Given the description of an element on the screen output the (x, y) to click on. 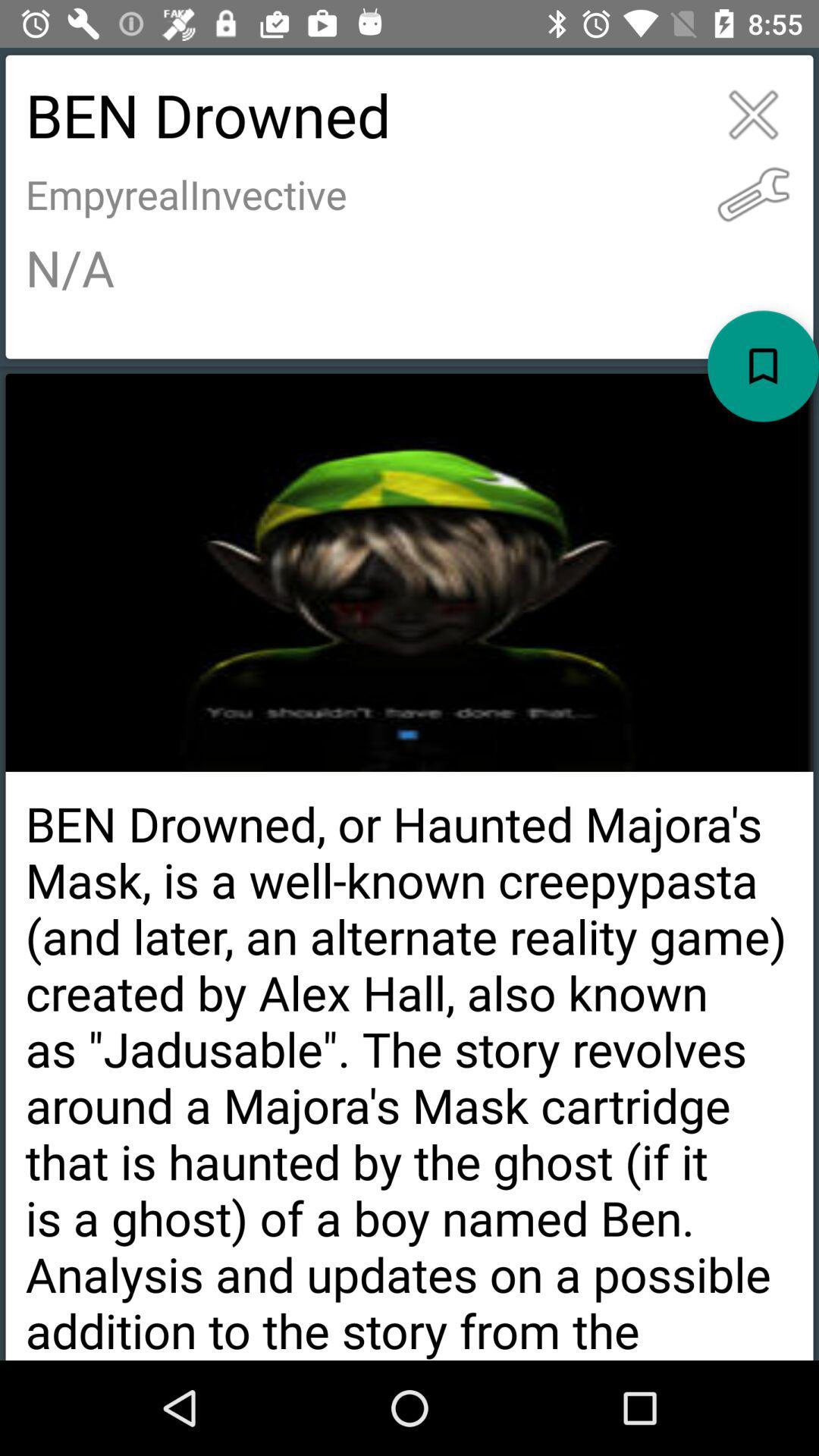
bookmark article (763, 366)
